Given the description of an element on the screen output the (x, y) to click on. 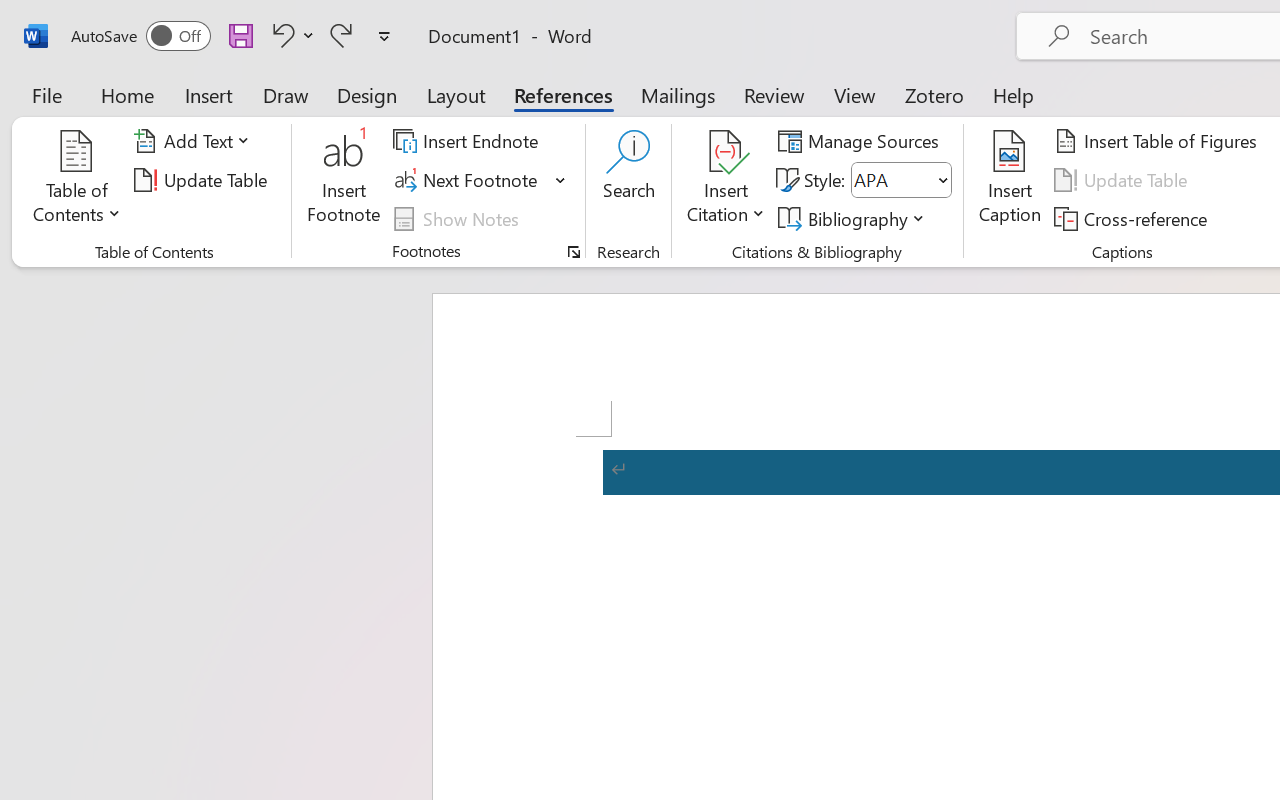
Style (901, 179)
Redo Apply Quick Style (341, 35)
Insert Table of Figures... (1158, 141)
Cross-reference... (1133, 218)
Next Footnote (468, 179)
Insert Caption... (1009, 180)
